Given the description of an element on the screen output the (x, y) to click on. 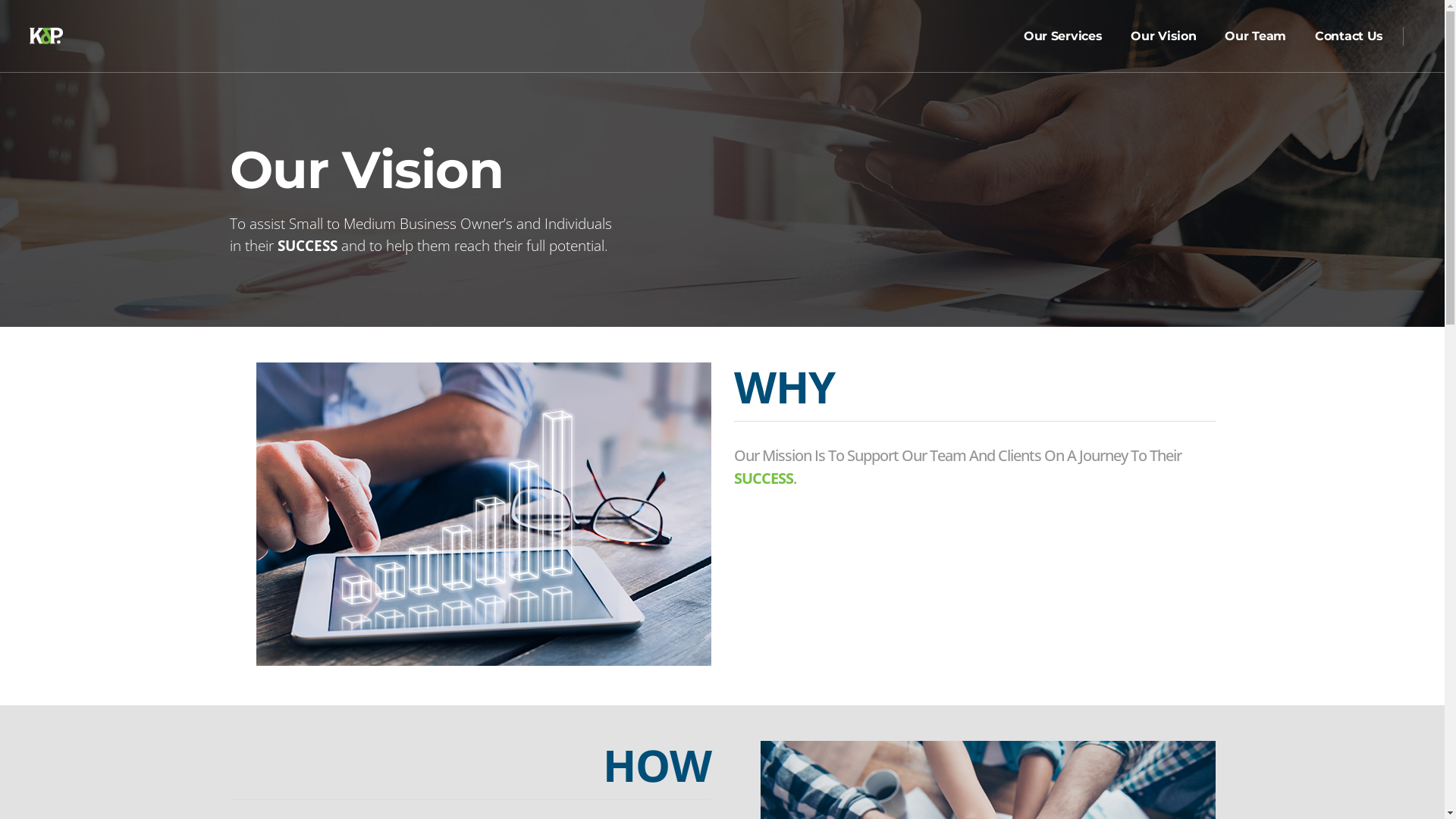
Contact Us Element type: text (1348, 36)
Our Services Element type: text (1062, 36)
Our Vision Element type: text (1163, 36)
Our Team Element type: text (1255, 36)
